Given the description of an element on the screen output the (x, y) to click on. 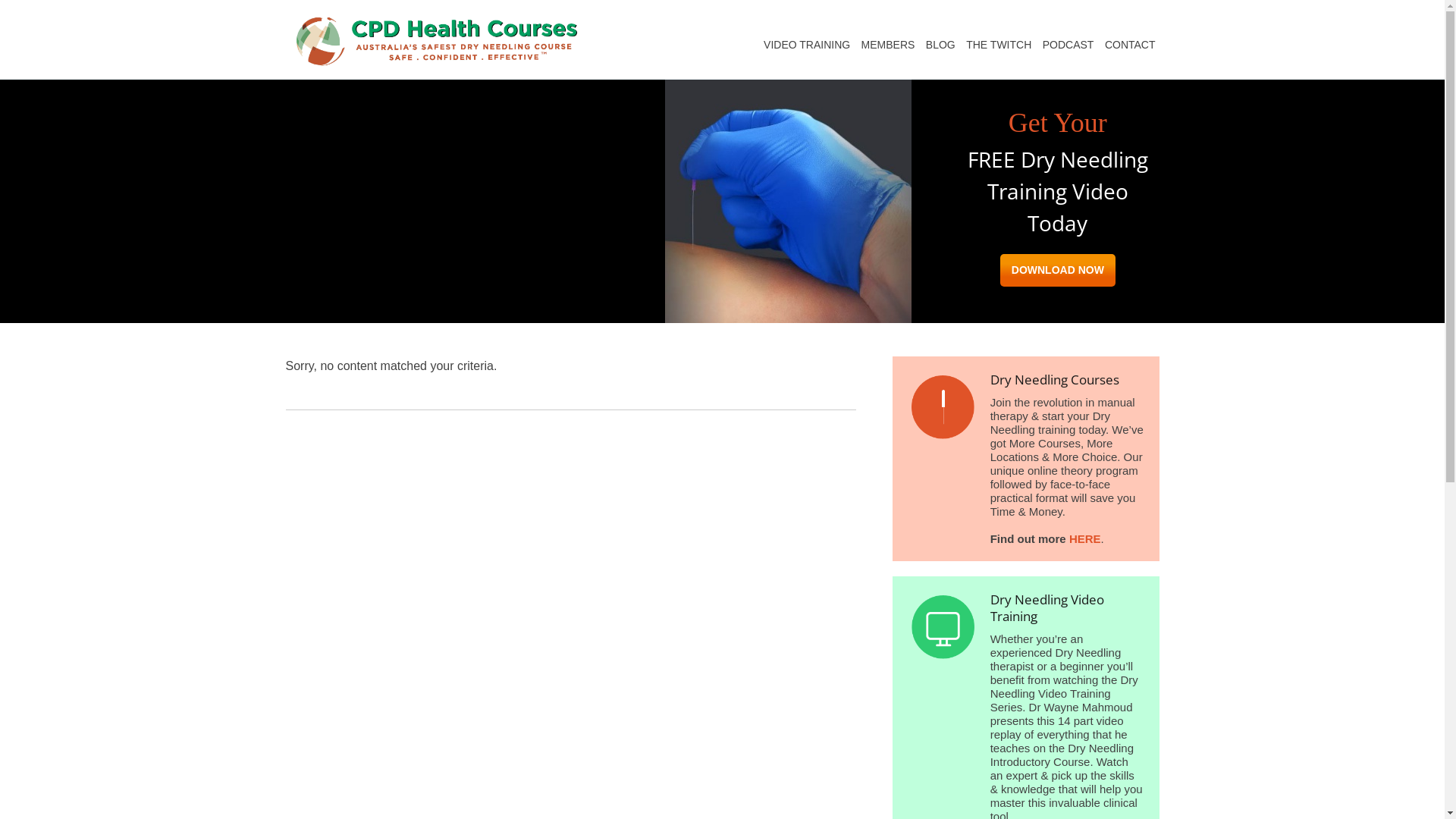
Get Your FREE Dry Needling Training Video Today Element type: hover (787, 201)
PODCAST Element type: text (1068, 42)
VIDEO TRAINING Element type: text (806, 42)
CPD Health Courses Dry Needling Training Element type: hover (436, 39)
MEMBERS Element type: text (888, 42)
Wistia video player Element type: hover (474, 181)
Dry Needling Video Training Element type: hover (943, 626)
THE TWITCH Element type: text (998, 42)
DOWNLOAD NOW Element type: text (1057, 270)
CONTACT Element type: text (1130, 42)
Dry Needling Courses Element type: hover (943, 407)
BLOG Element type: text (940, 42)
